Given the description of an element on the screen output the (x, y) to click on. 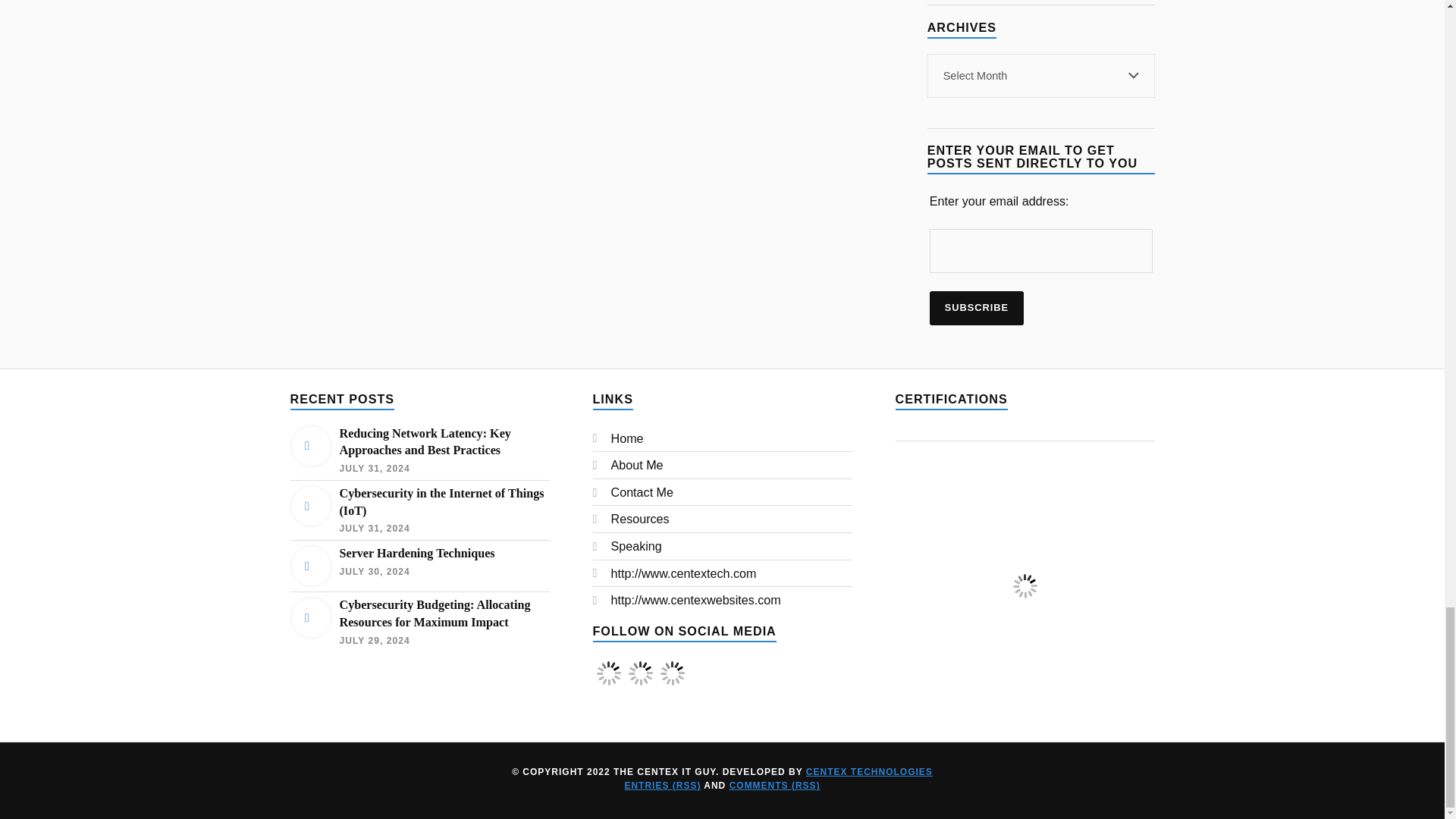
Facebook (608, 684)
Twitter (639, 672)
LinkedIn (671, 672)
LinkedIn (672, 684)
Twitter (640, 684)
Subscribe (976, 308)
Facebook (607, 672)
